Given the description of an element on the screen output the (x, y) to click on. 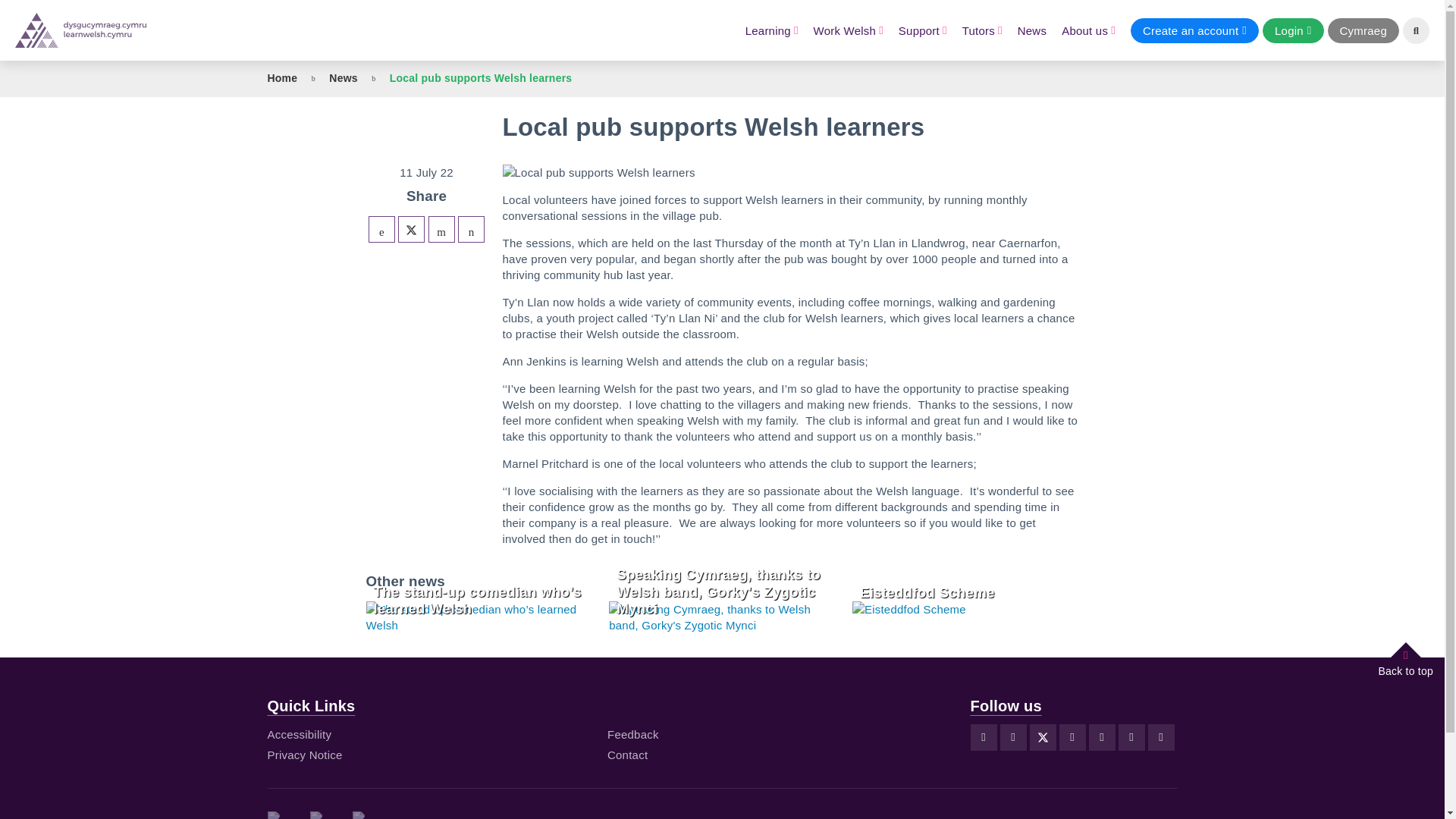
Share Local pub supports Welsh learners  on Twitter (411, 229)
Local pub supports Welsh learners  (471, 229)
Cymraeg (1363, 30)
Share Local pub supports Welsh learners  on LinkedIn (441, 229)
Share Local pub supports Welsh learners  on Facebook (381, 229)
Login (1292, 30)
Create an account (1195, 30)
Work Welsh (848, 30)
